Given the description of an element on the screen output the (x, y) to click on. 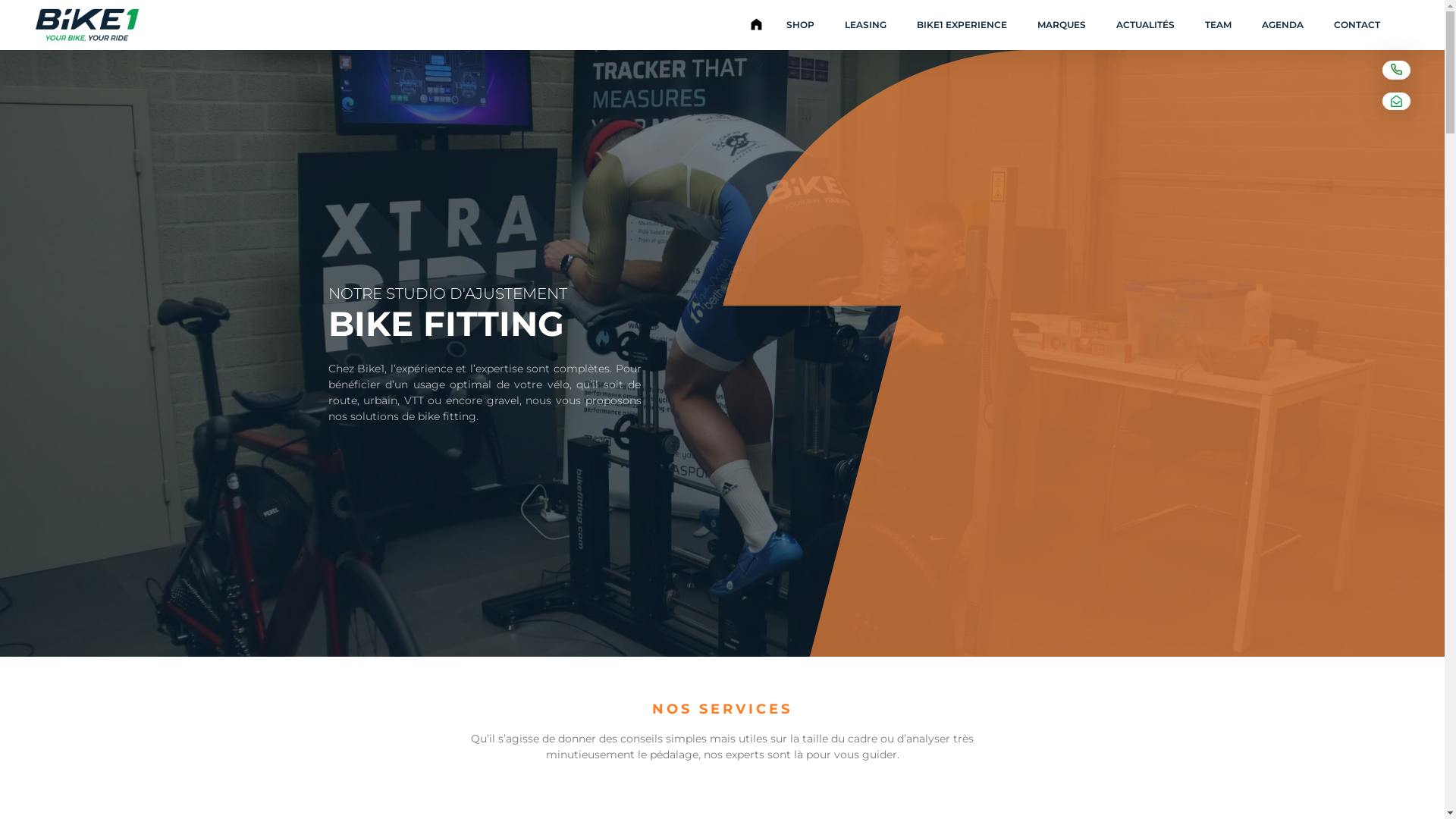
MARQUES Element type: text (1061, 24)
ACCUEIL Element type: text (755, 24)
SHOP Element type: text (800, 24)
CONTACT Element type: text (1356, 24)
AGENDA Element type: text (1282, 24)
BIKE1 EXPERIENCE Element type: text (961, 24)
TEAM Element type: text (1217, 24)
LEASING Element type: text (865, 24)
